Given the description of an element on the screen output the (x, y) to click on. 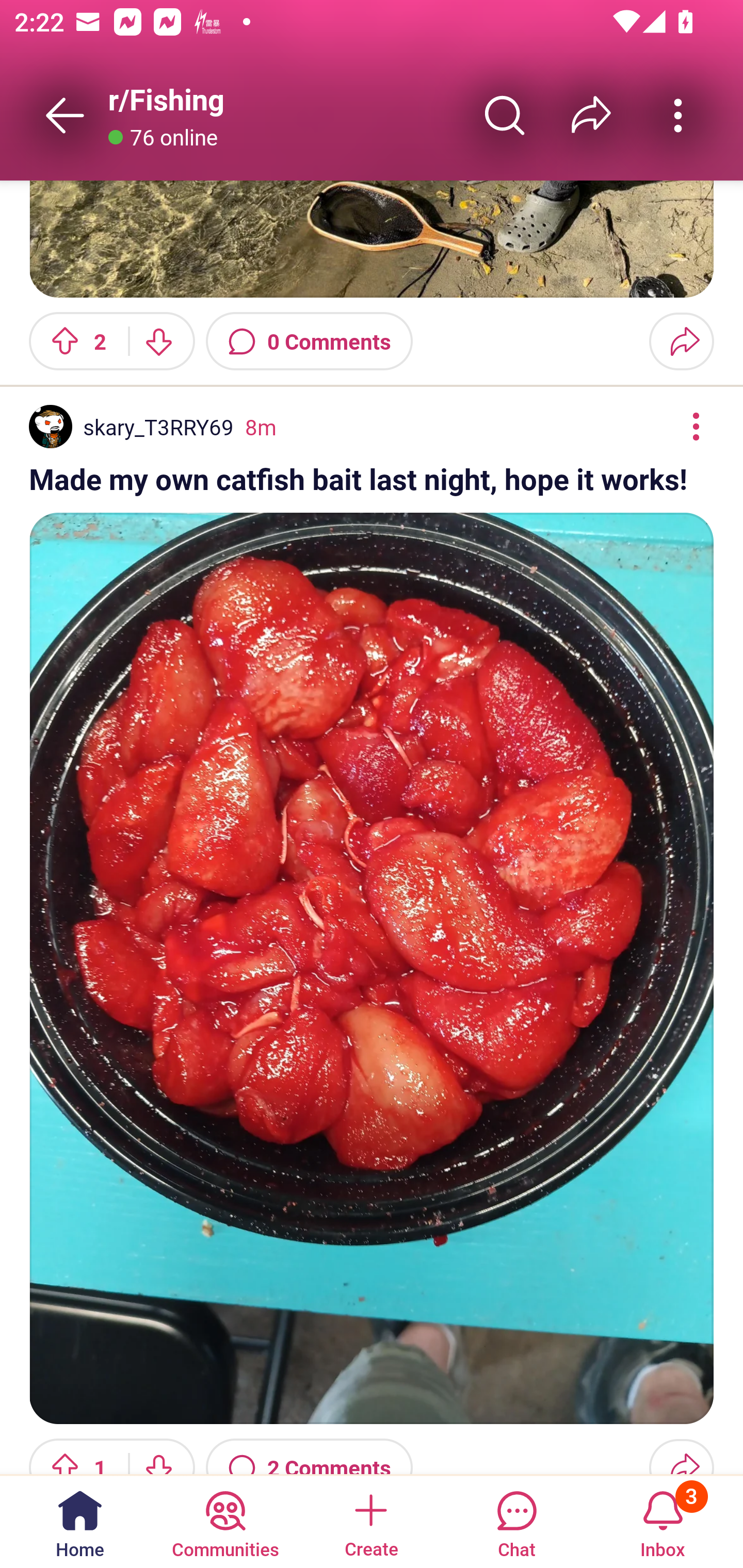
Back (64, 115)
Search r/﻿Fishing (504, 115)
Share r/﻿Fishing (591, 115)
More community actions (677, 115)
Home (80, 1520)
Communities (225, 1520)
Create a post Create (370, 1520)
Chat (516, 1520)
Inbox, has 3 notifications 3 Inbox (662, 1520)
